Given the description of an element on the screen output the (x, y) to click on. 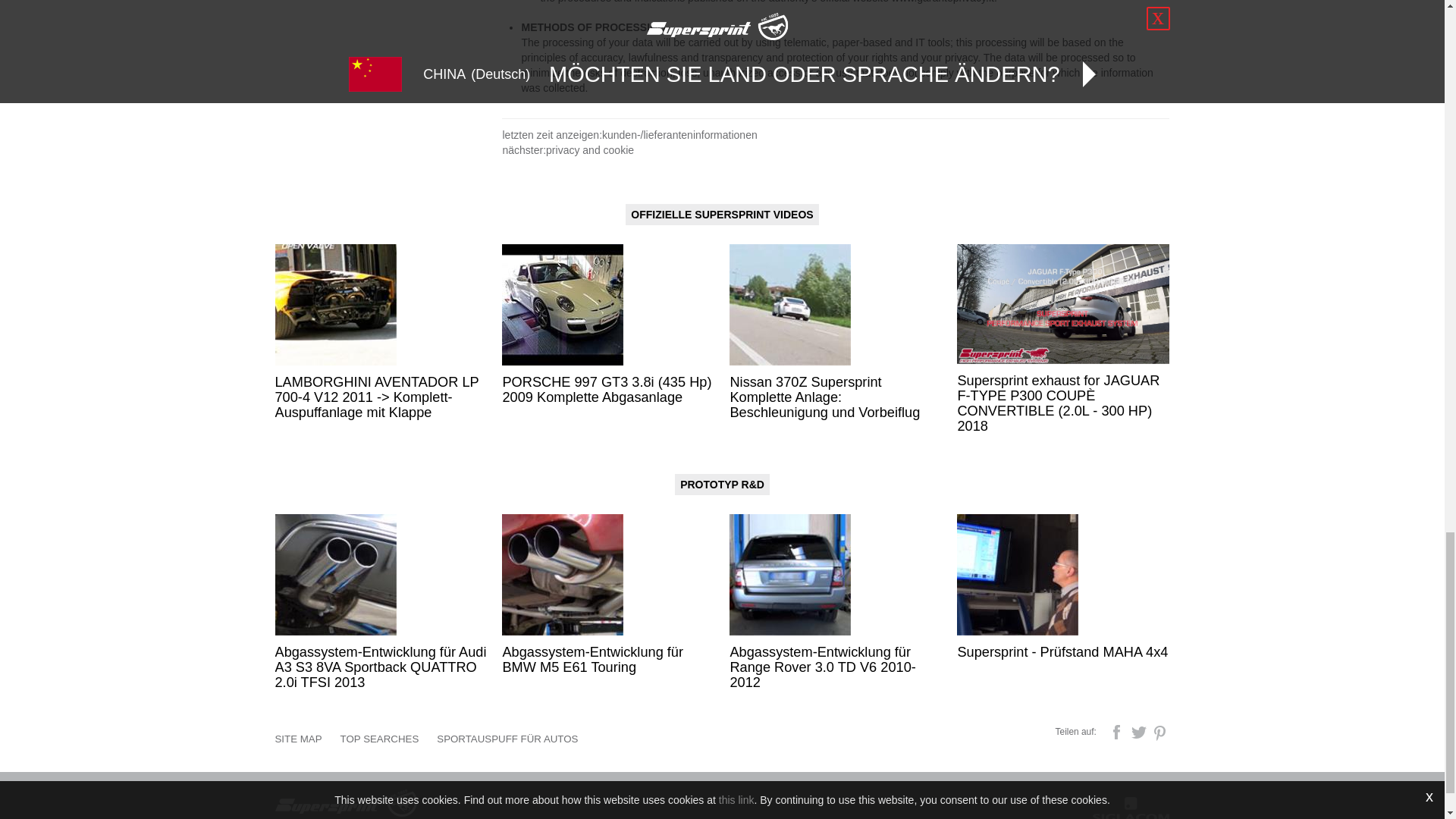
Teilen auf Pinterest (1160, 730)
Sigla.com - Internet Partner (1131, 807)
Teilen auf Facebook (1117, 730)
Teilen auf Twitter (1140, 730)
